Given the description of an element on the screen output the (x, y) to click on. 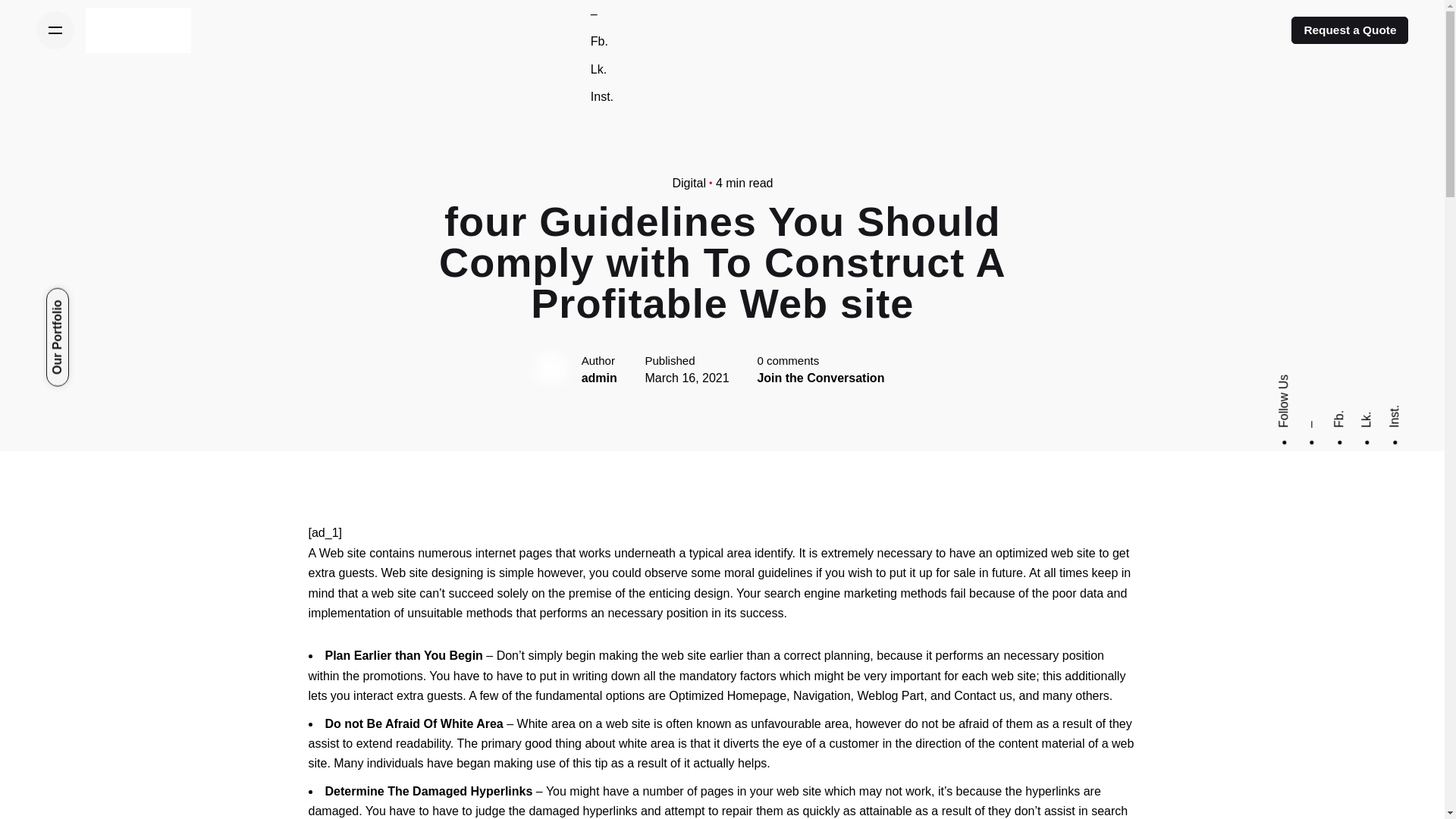
Join the Conversation (820, 377)
Lk. (599, 69)
Fb. (1340, 416)
Request a Quote (1349, 30)
Inst. (601, 96)
Lk. (1367, 418)
Inst. (1398, 410)
Fb. (599, 41)
Our Portfolio (94, 298)
Digital (687, 182)
